Given the description of an element on the screen output the (x, y) to click on. 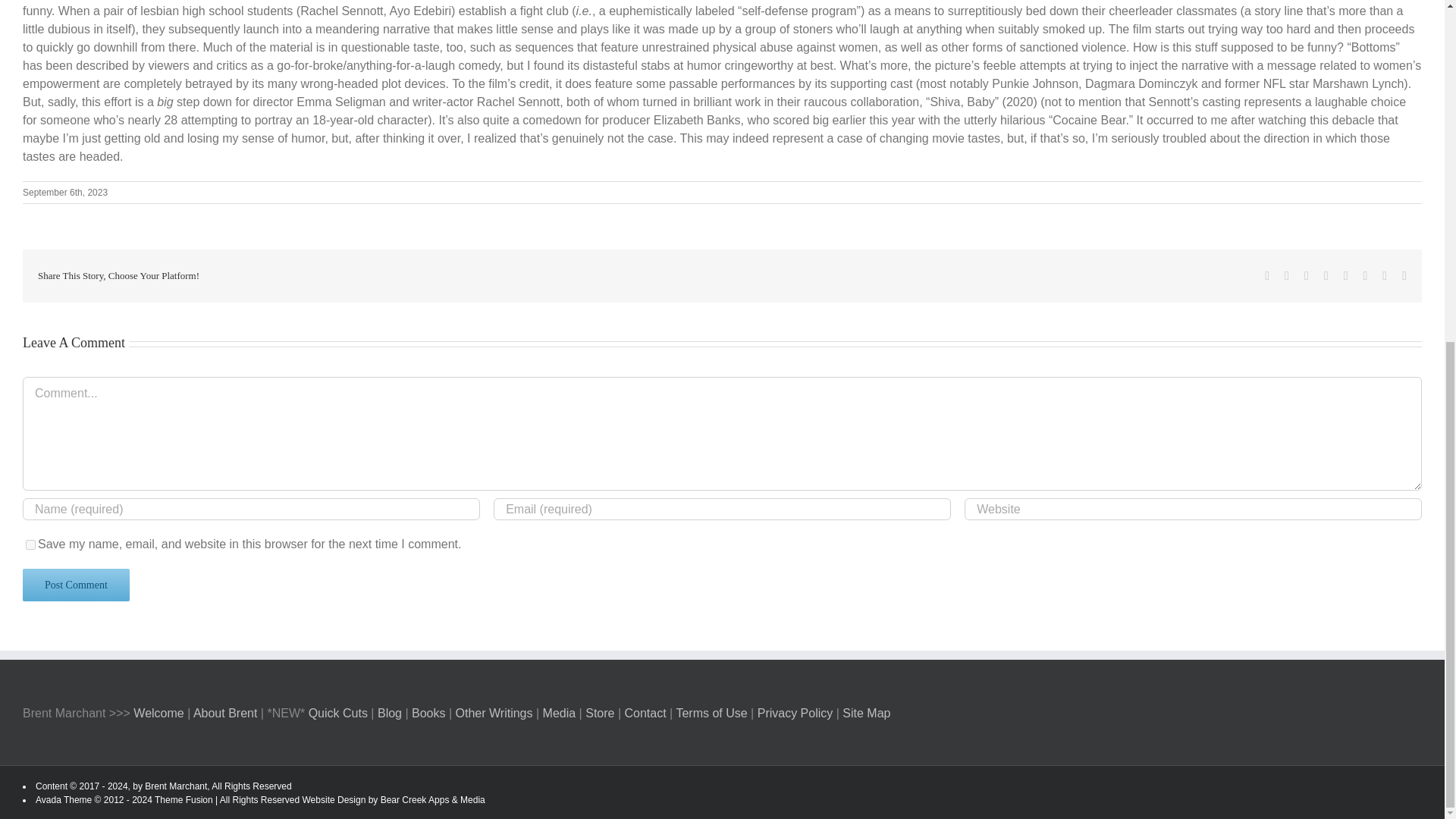
yes (30, 544)
Post Comment (76, 584)
